Given the description of an element on the screen output the (x, y) to click on. 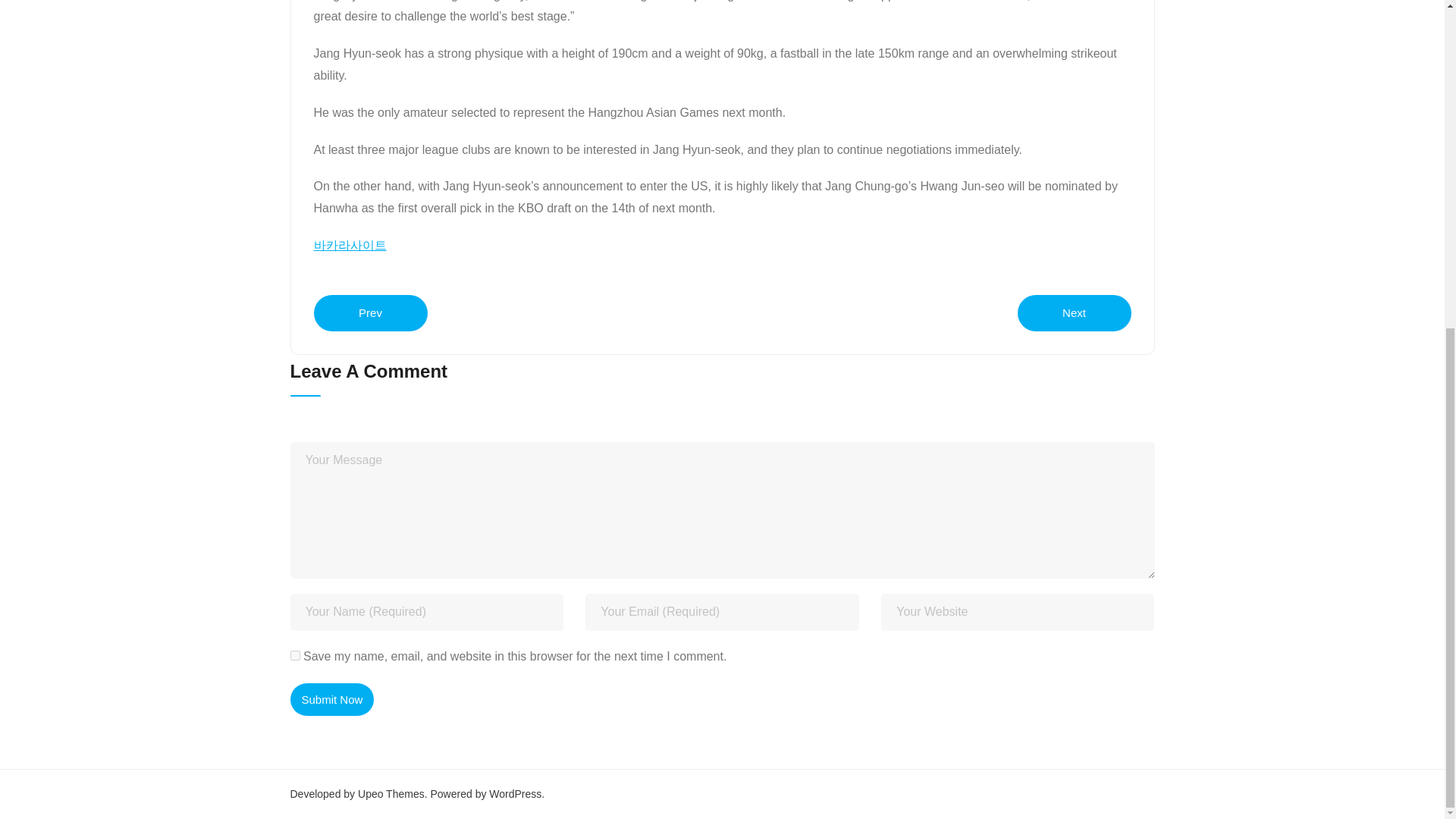
Submit Now (331, 699)
Next (1074, 312)
Prev (371, 312)
WordPress (515, 793)
Submit Now (331, 699)
yes (294, 655)
Upeo Themes (391, 793)
